Given the description of an element on the screen output the (x, y) to click on. 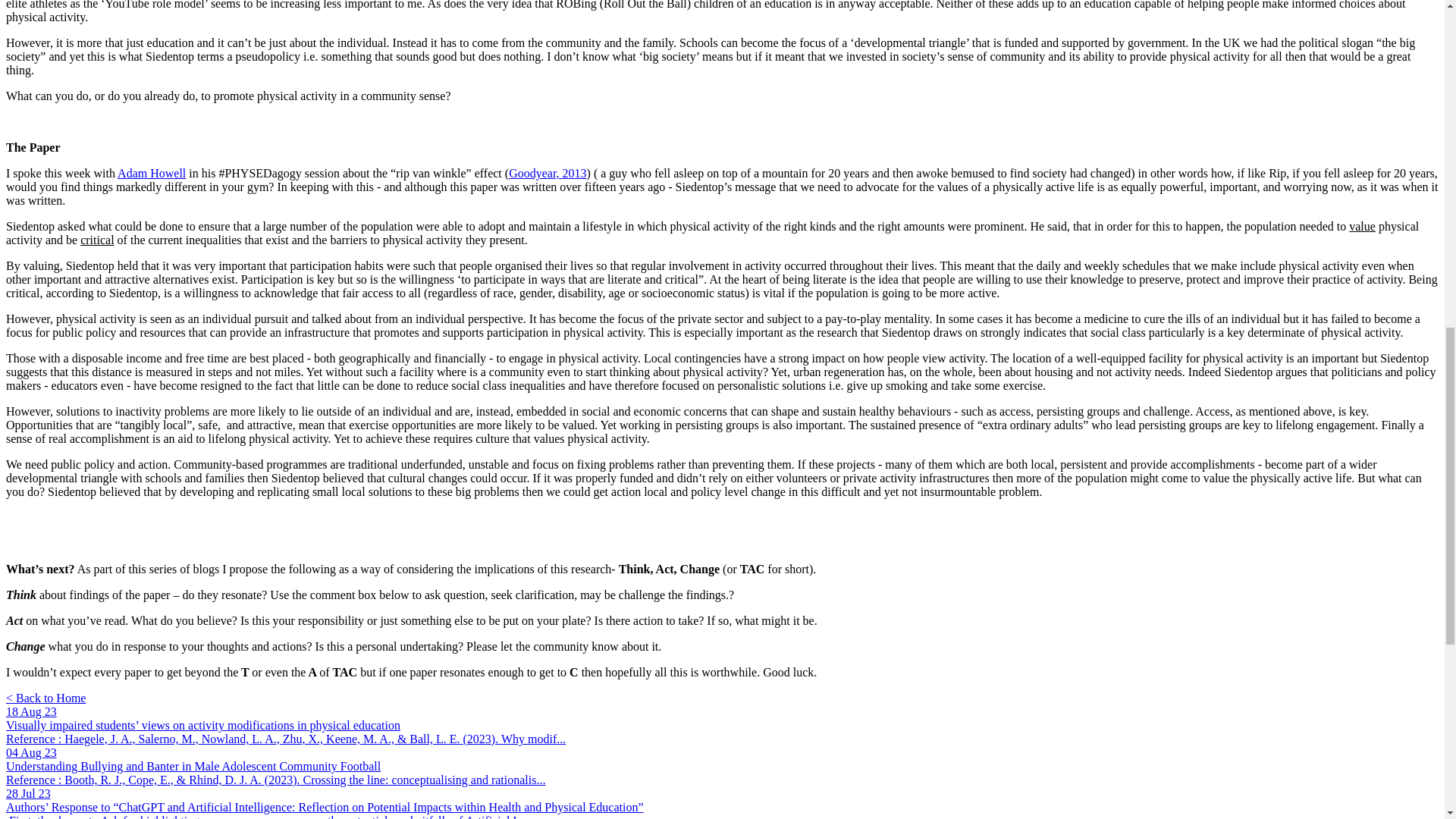
Goodyear, 2013 (547, 173)
Adam Howell (151, 173)
